Given the description of an element on the screen output the (x, y) to click on. 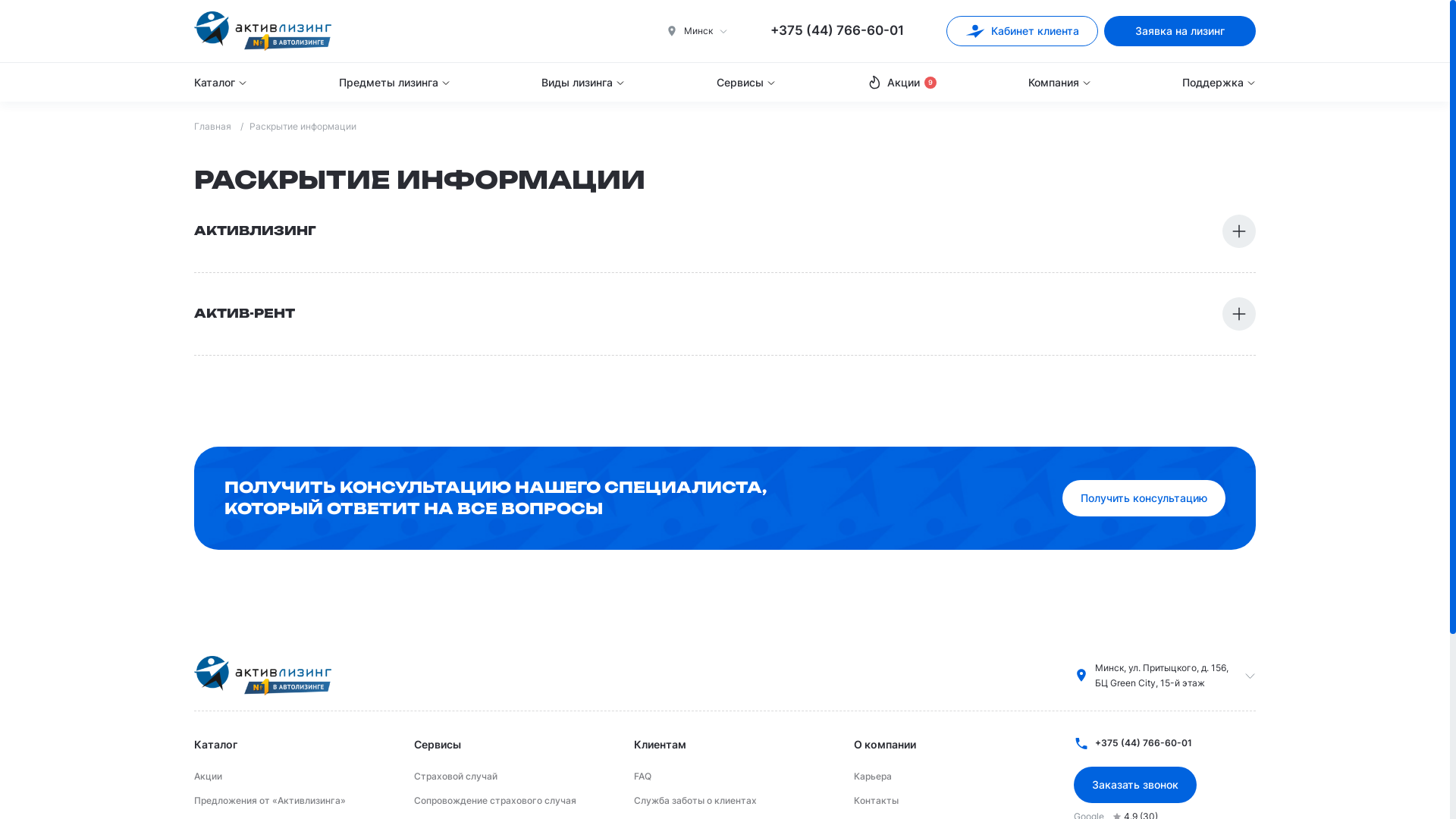
FAQ Element type: text (642, 776)
+375 (44) 766-60-01 Element type: text (836, 30)
+375 (44) 766-60-01 Element type: text (1164, 743)
